Given the description of an element on the screen output the (x, y) to click on. 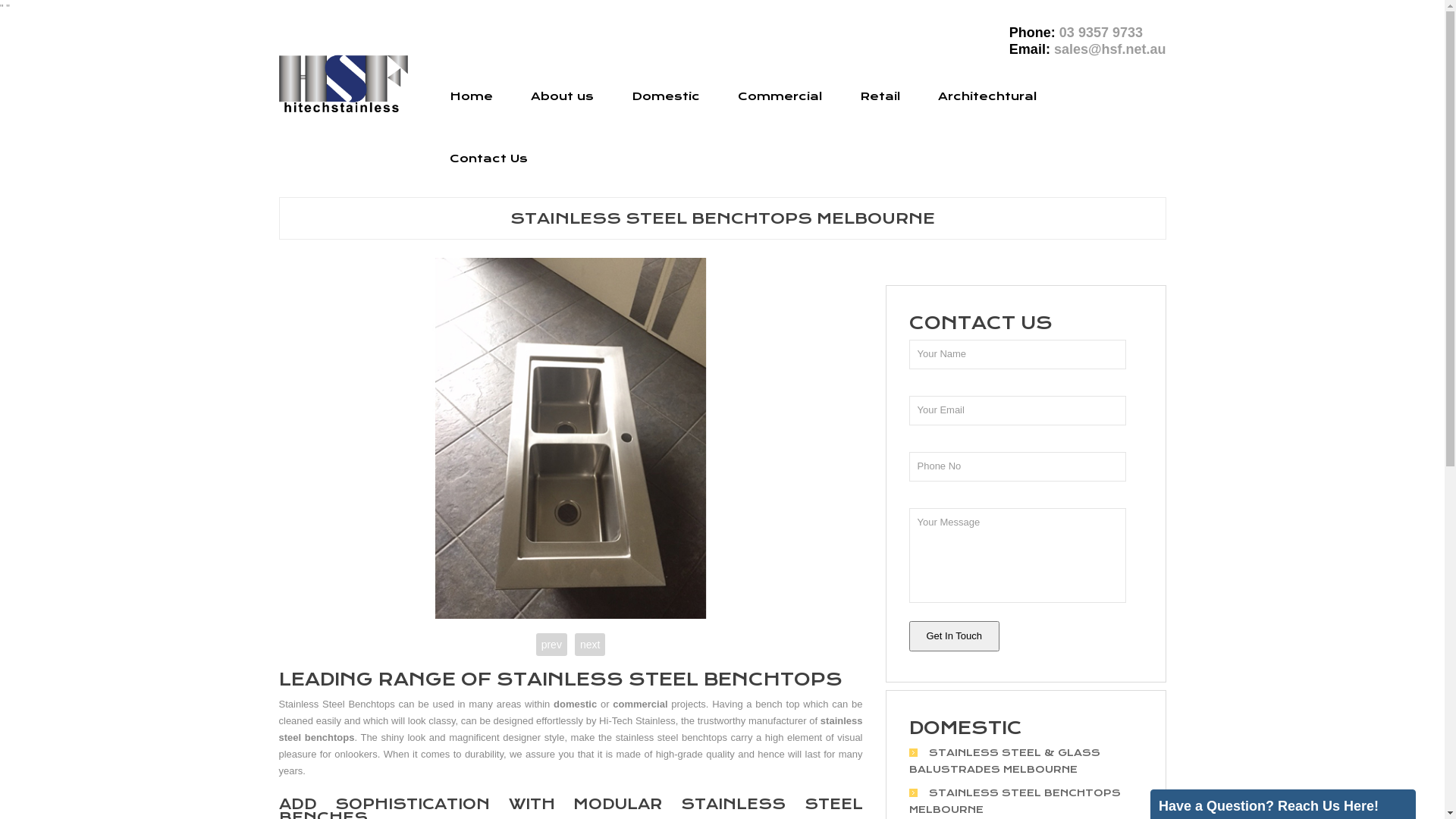
About us Element type: text (561, 96)
Home Element type: text (470, 96)
Steel Fabricators, Melbourne Element type: hover (343, 83)
Architechtural Element type: text (987, 96)
STAINLESS STEEL BENCHTOPS MELBOURNE Element type: text (1014, 801)
03 9357 9733 Element type: text (1100, 32)
Get In Touch Element type: text (953, 636)
Commercial Element type: text (779, 96)
Domestic Element type: text (665, 96)
Retail Element type: text (879, 96)
STAINLESS STEEL & GLASS BALUSTRADES MELBOURNE Element type: text (1003, 760)
sales@hsf.net.au Element type: text (1110, 48)
Contact Us Element type: text (488, 158)
